Given the description of an element on the screen output the (x, y) to click on. 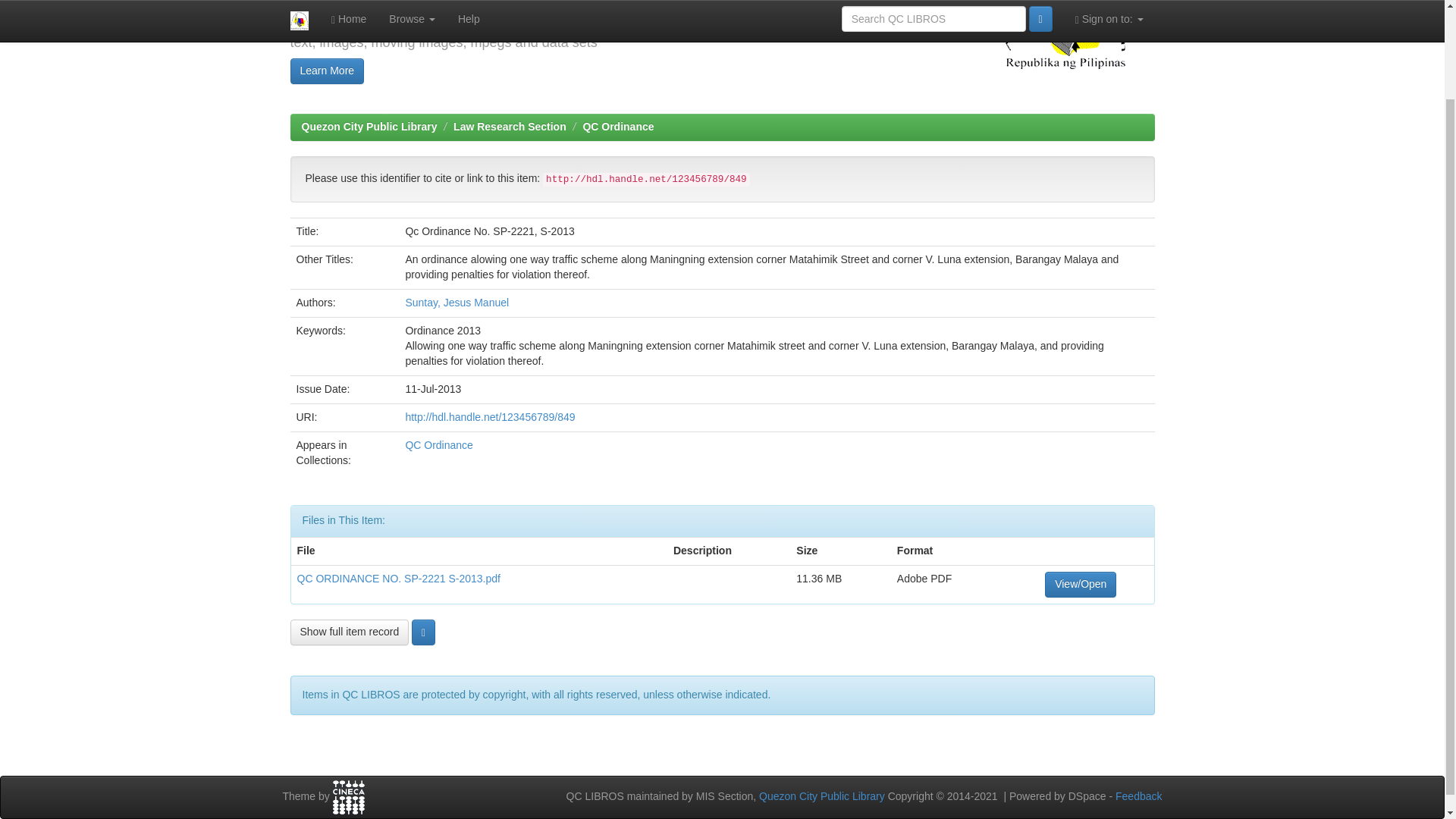
Show full item record (349, 632)
Law Research Section (509, 126)
Suntay, Jesus Manuel (456, 302)
Learn More (326, 71)
Learn More (326, 70)
QC Ordinance (617, 126)
QC ORDINANCE NO. SP-2221 S-2013.pdf (398, 578)
Quezon City Public Library (369, 126)
Quezon City Public Library (821, 796)
Feedback (1138, 796)
QC Ordinance (437, 444)
